Given the description of an element on the screen output the (x, y) to click on. 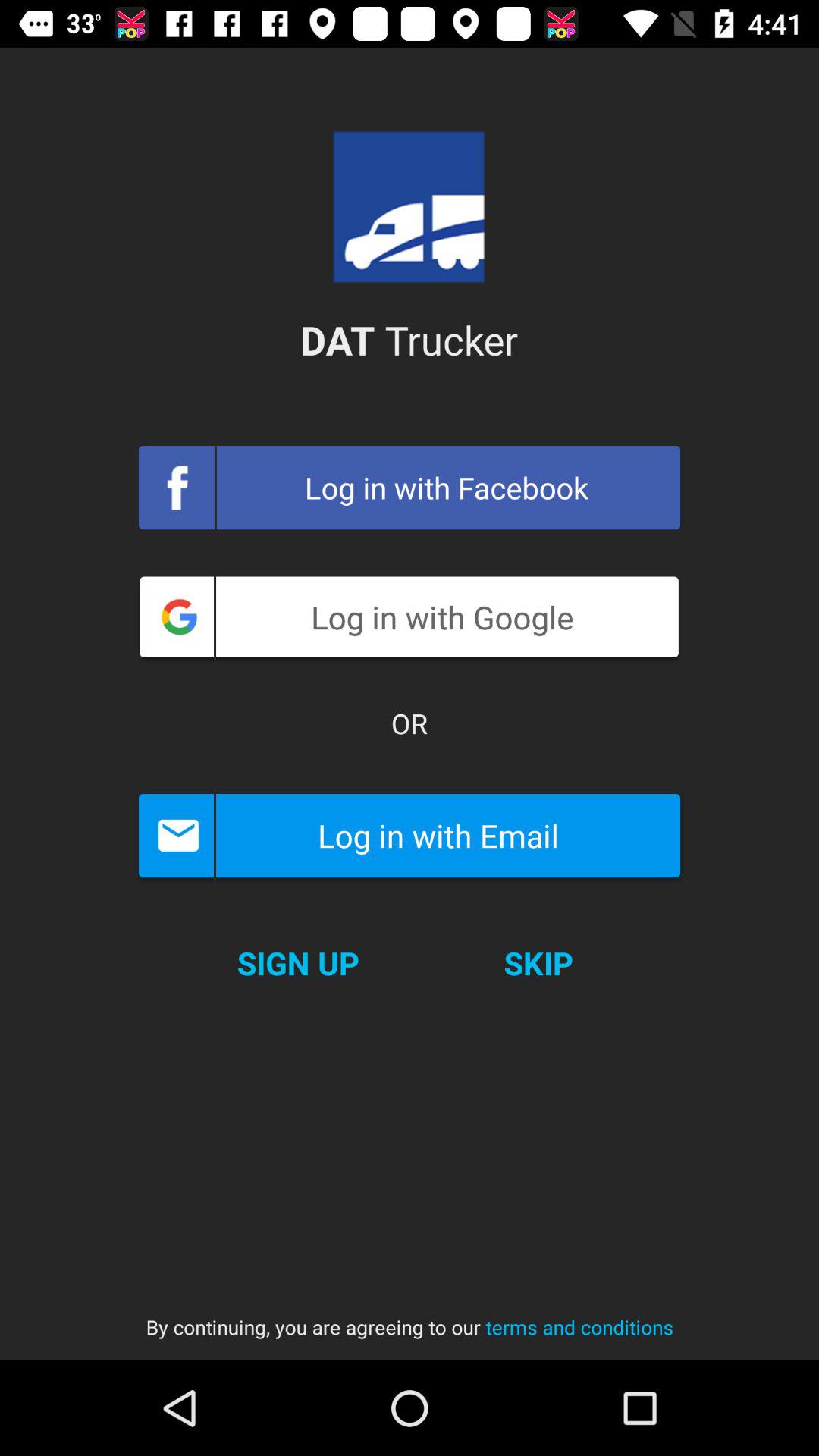
select skip icon (538, 962)
